Given the description of an element on the screen output the (x, y) to click on. 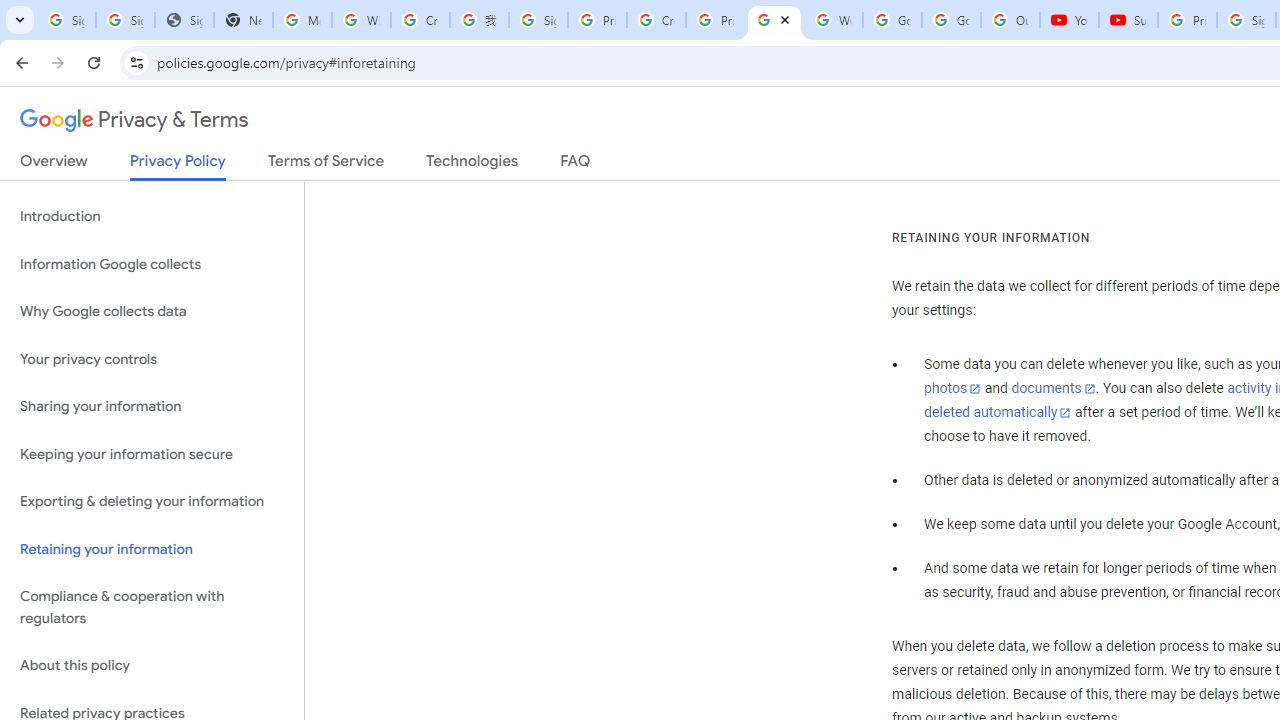
Create your Google Account (656, 20)
Subscriptions - YouTube (1128, 20)
Sign In - USA TODAY (183, 20)
Create your Google Account (420, 20)
YouTube (1069, 20)
Compliance & cooperation with regulators (152, 607)
Google Account (950, 20)
Information Google collects (152, 263)
